Given the description of an element on the screen output the (x, y) to click on. 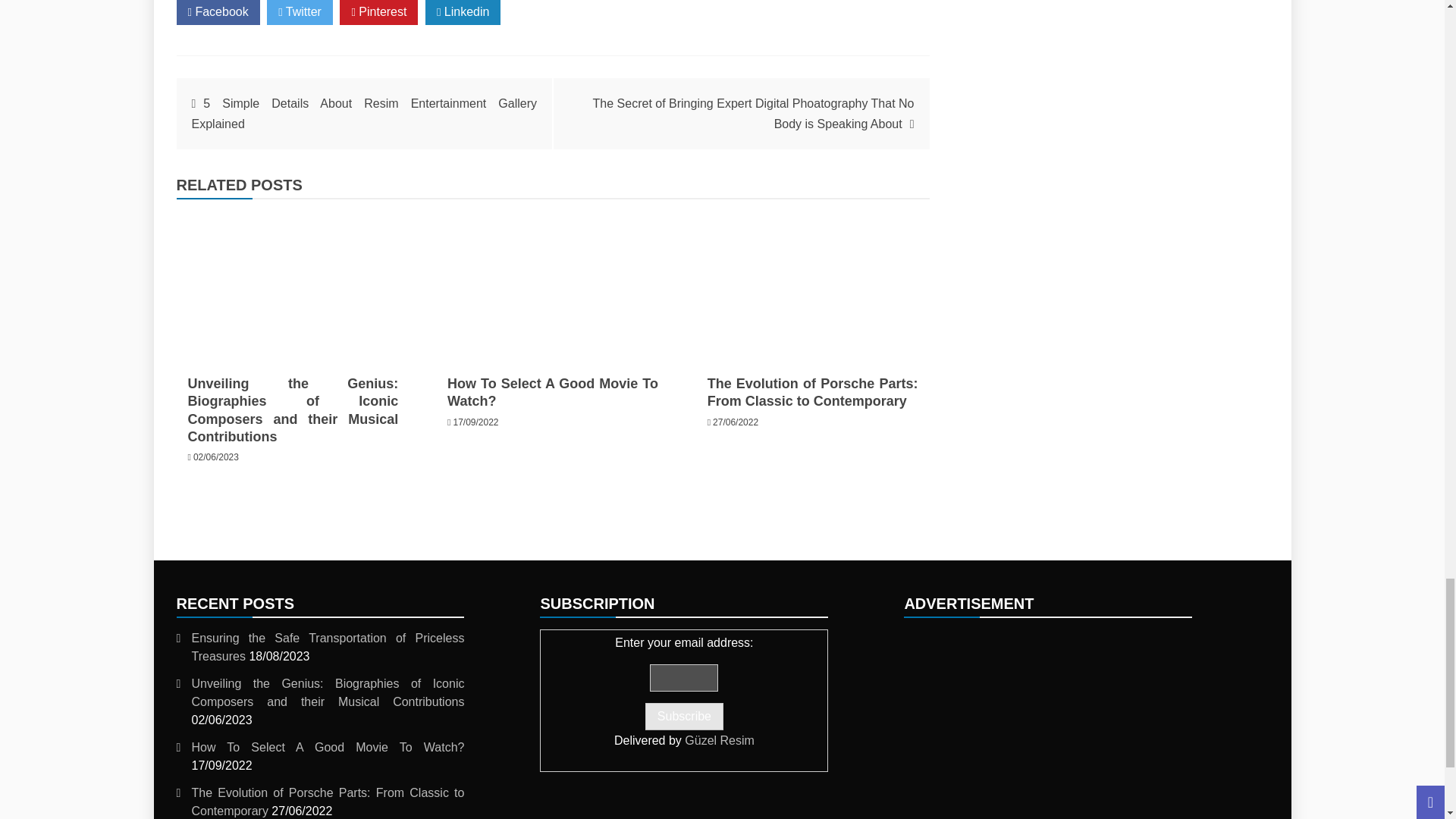
Subscribe (684, 716)
The Evolution of Porsche Parts: From Classic to Contemporary (812, 283)
Linkedin (462, 12)
Facebook (217, 12)
Coco Game Play (1047, 724)
How To Select A Good Movie To Watch? (552, 391)
Twitter (299, 12)
How To Select A Good Movie To Watch? (552, 283)
Pinterest (378, 12)
5 Simple Details About Resim Entertainment Gallery Explained (363, 113)
